Given the description of an element on the screen output the (x, y) to click on. 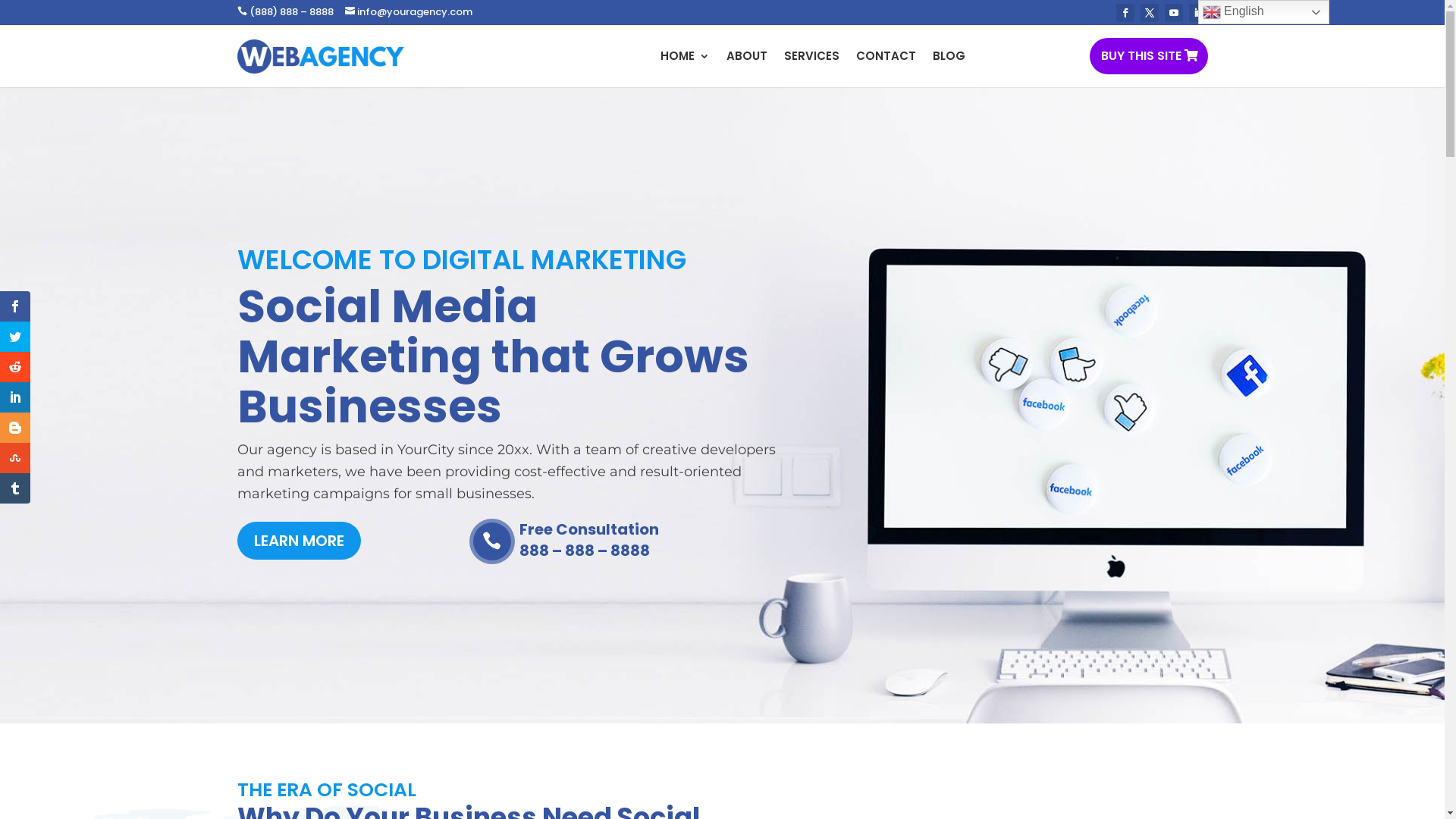
English Element type: text (1263, 12)
Follow on Facebook Element type: hover (1125, 12)
Follow on X Element type: hover (1149, 12)
ABOUT Element type: text (746, 55)
CONTACT Element type: text (885, 55)
Follow on Youtube Element type: hover (1173, 12)
BUY THIS SITE Element type: text (1147, 55)
Follow on LinkedIn Element type: hover (1198, 12)
LEARN MORE Element type: text (298, 540)
BLOG Element type: text (948, 55)
SERVICES Element type: text (811, 55)
HOME Element type: text (684, 55)
